Given the description of an element on the screen output the (x, y) to click on. 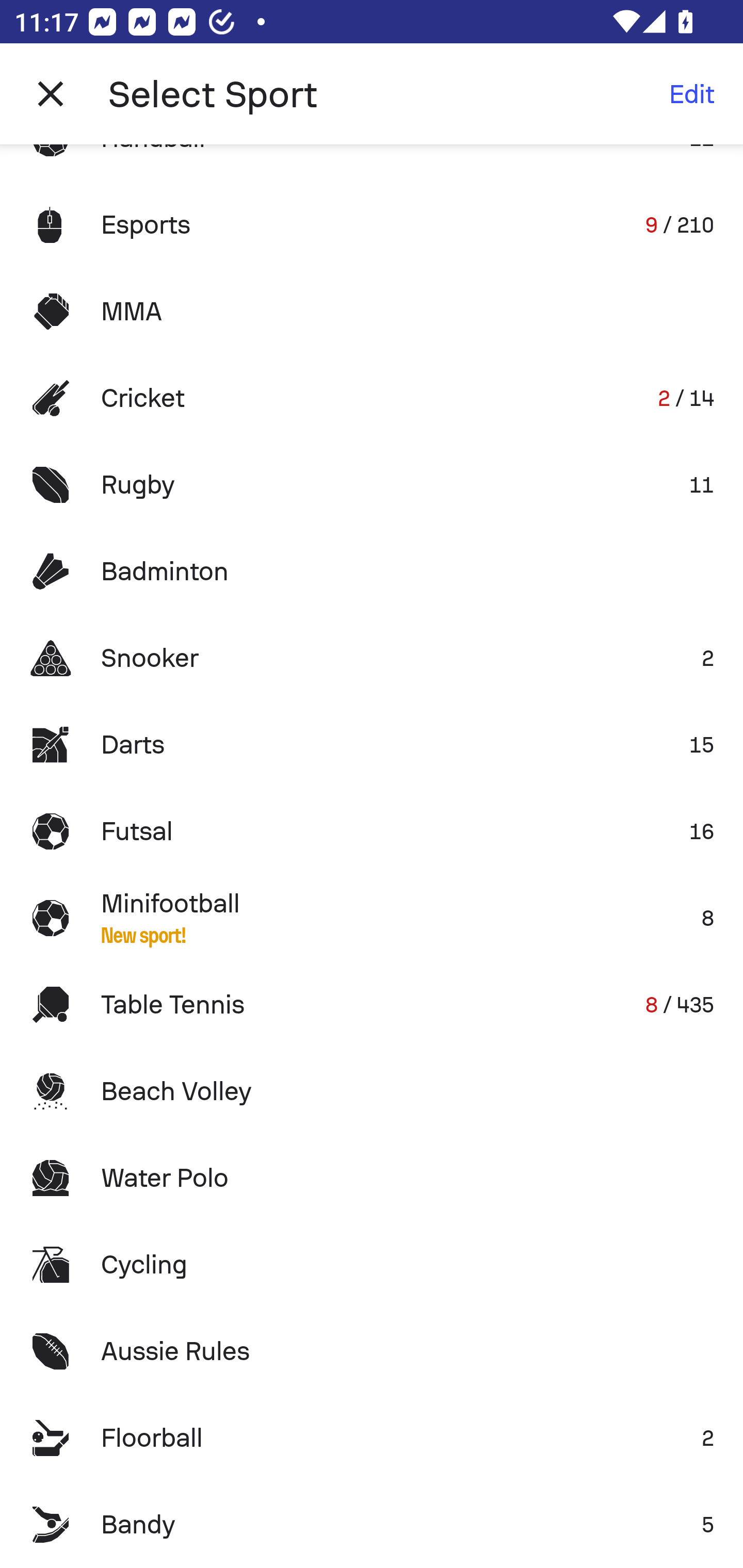
Edit (691, 93)
Esports 9 / 210 (371, 224)
MMA (371, 311)
Cricket 2 / 14 (371, 398)
Rugby 11 (371, 485)
Badminton (371, 571)
Snooker 2 (371, 657)
Darts 15 (371, 744)
Futsal 16 (371, 831)
Minifootball New sport! 8 (371, 917)
Table Tennis 8 / 435 (371, 1004)
Beach Volley (371, 1091)
Water Polo (371, 1178)
Cycling (371, 1264)
Aussie Rules (371, 1350)
Floorball 2 (371, 1437)
Bandy 5 (371, 1524)
